Given the description of an element on the screen output the (x, y) to click on. 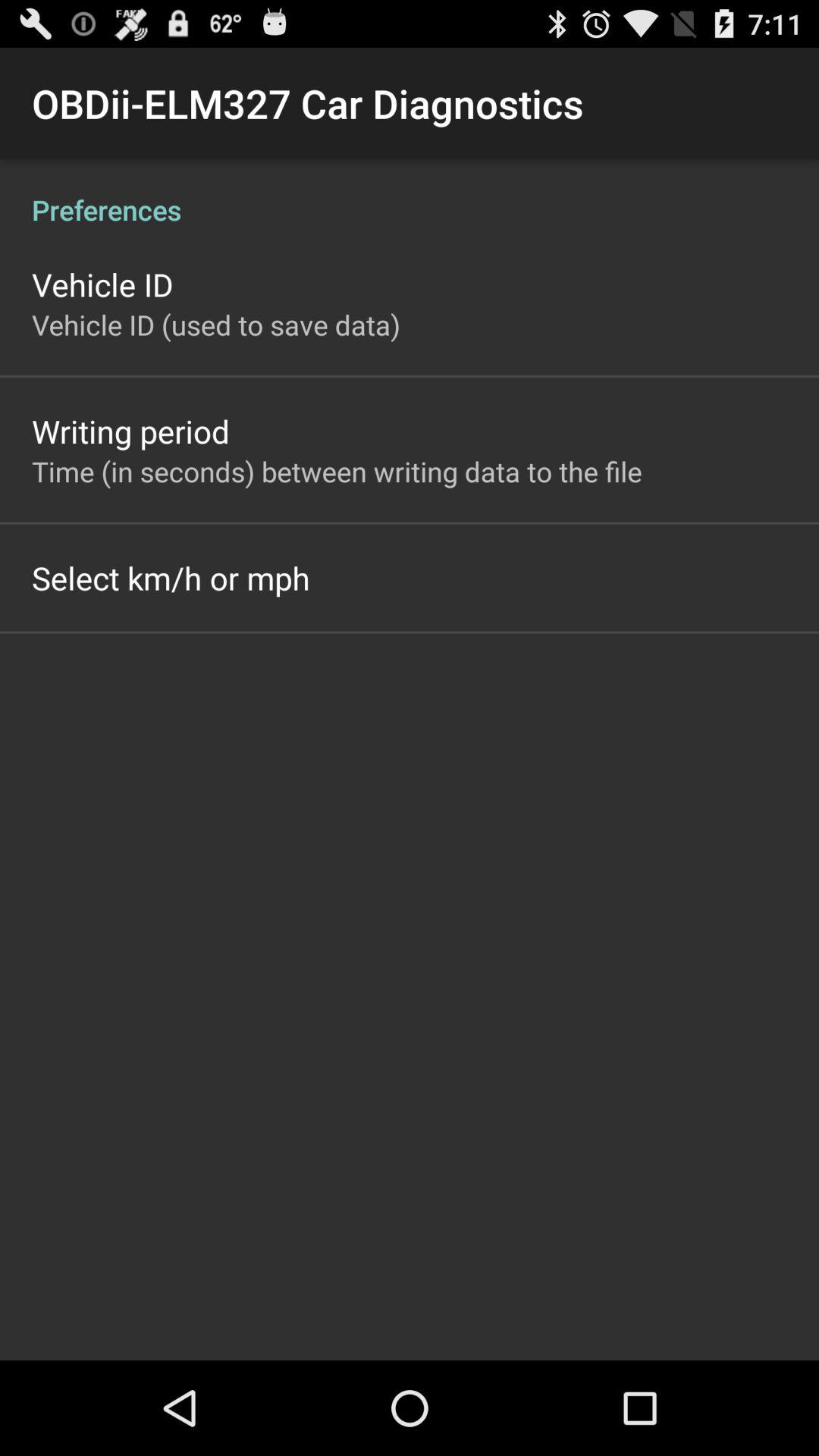
choose the item on the left (170, 577)
